Given the description of an element on the screen output the (x, y) to click on. 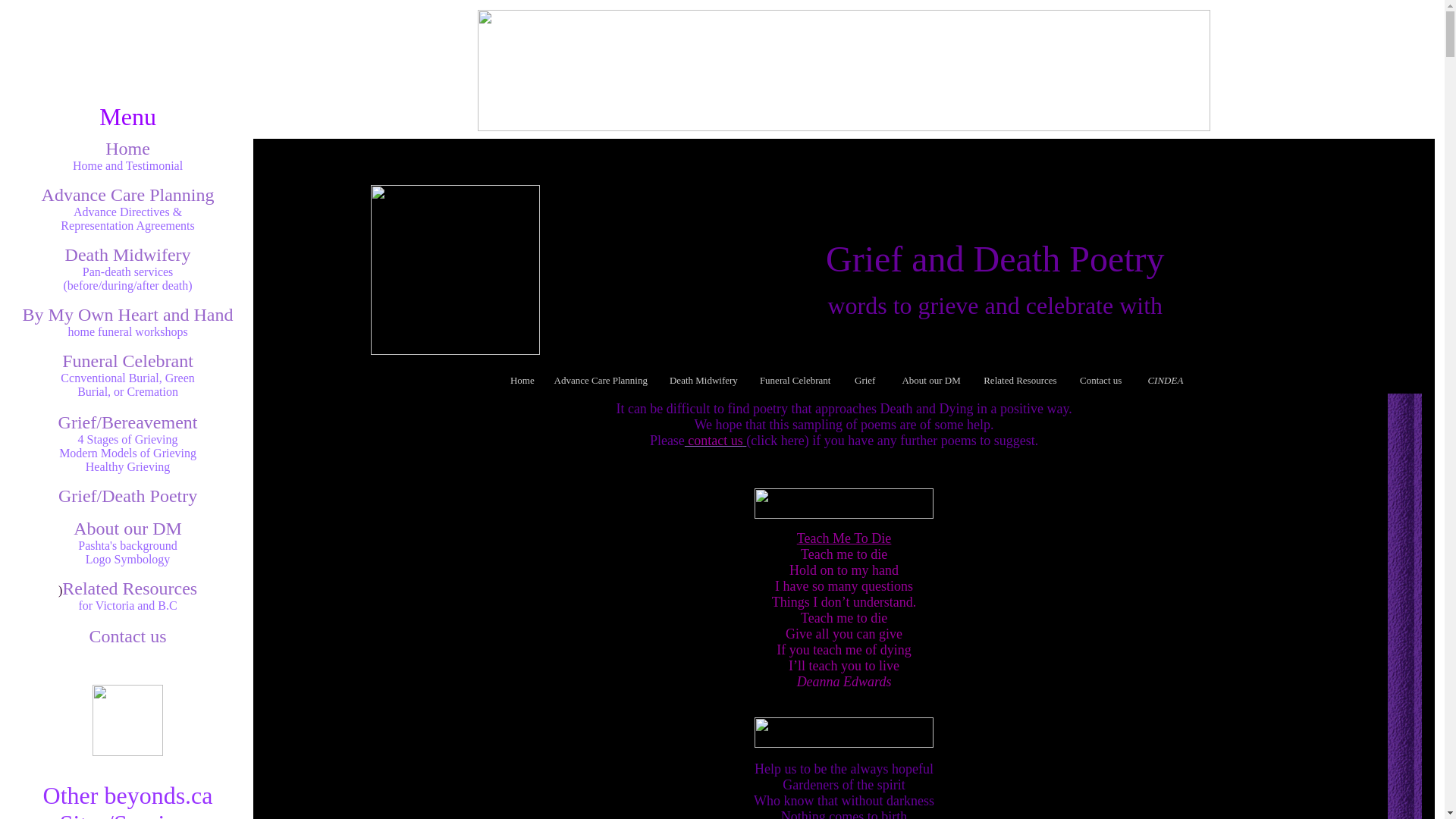
By My Own Heart and Hand
home funeral workshops Element type: text (127, 321)
About our DM Element type: text (127, 528)
   Element type: text (834, 377)
Grief    Element type: text (869, 377)
CINDEA Element type: text (1165, 377)
  Home  Element type: text (522, 377)
 About our DM Element type: text (928, 377)
Grief/Death Poetry Element type: text (127, 495)
Related Resources Element type: text (129, 588)
 Death Midwifery   Element type: text (706, 377)
Funeral Celebrant Element type: text (127, 360)
Death Midwifery Element type: text (128, 254)
Grief/Bereavement Element type: text (127, 422)
 Advance Care Planning   Element type: text (603, 377)
Funeral Celebrant Element type: text (794, 377)
Advance Care Planning Element type: text (127, 194)
Contact us Element type: text (127, 636)
contact us Element type: text (715, 440)
Contact us Element type: text (1100, 379)
Related Resources Element type: text (1019, 377)
Home Element type: text (127, 148)
